Given the description of an element on the screen output the (x, y) to click on. 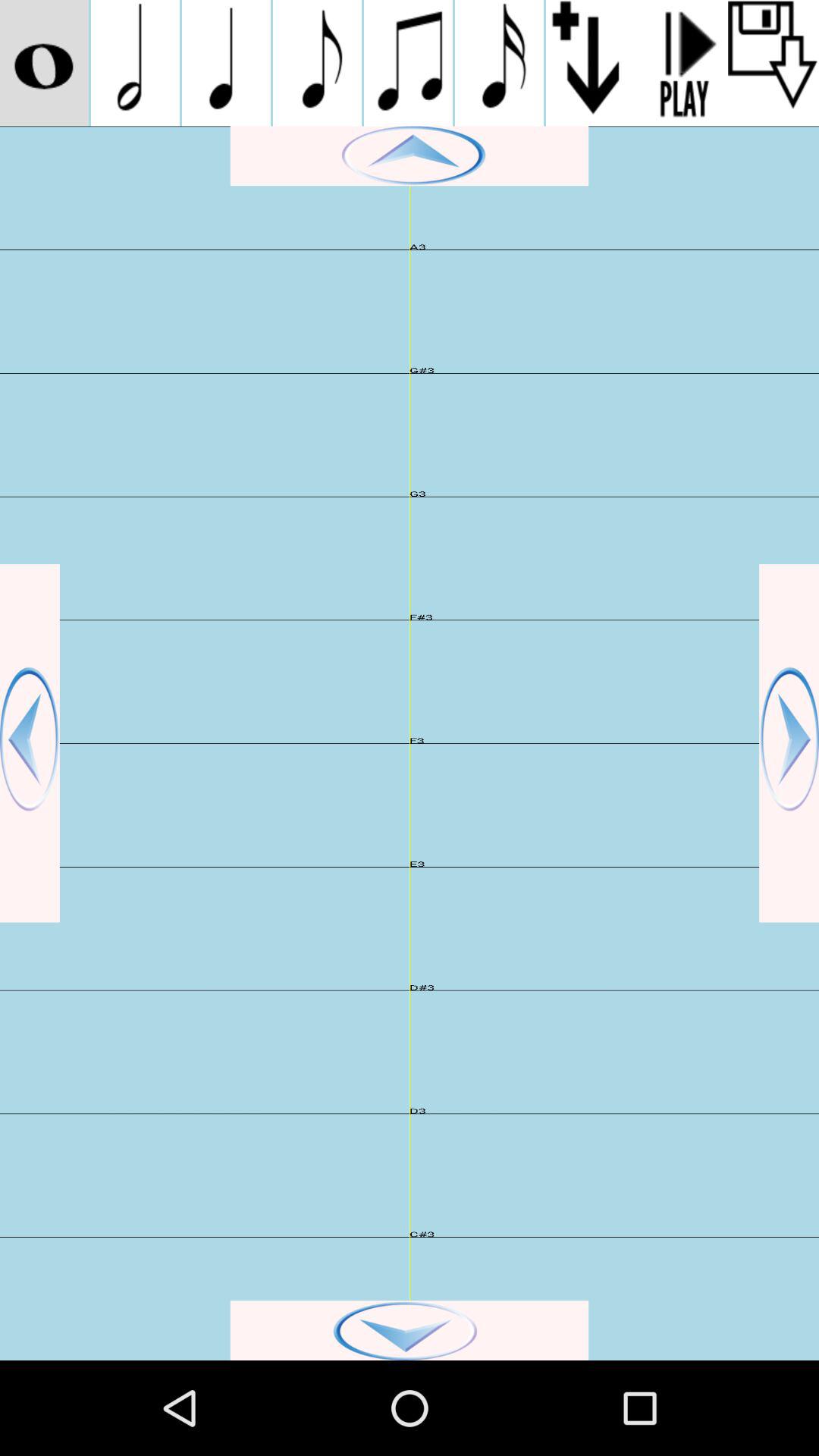
select wholenote (44, 63)
